Given the description of an element on the screen output the (x, y) to click on. 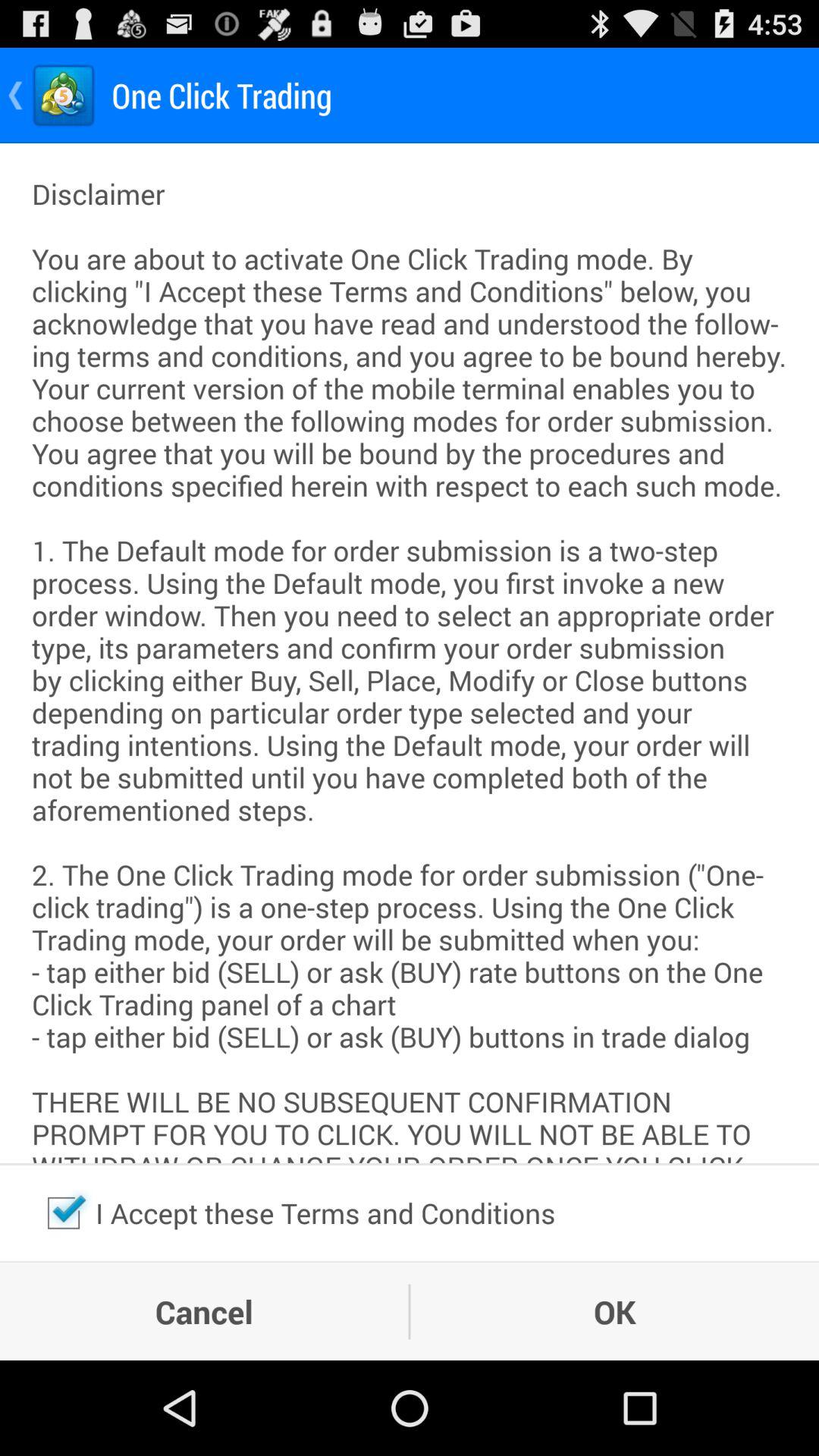
open ok item (614, 1311)
